Given the description of an element on the screen output the (x, y) to click on. 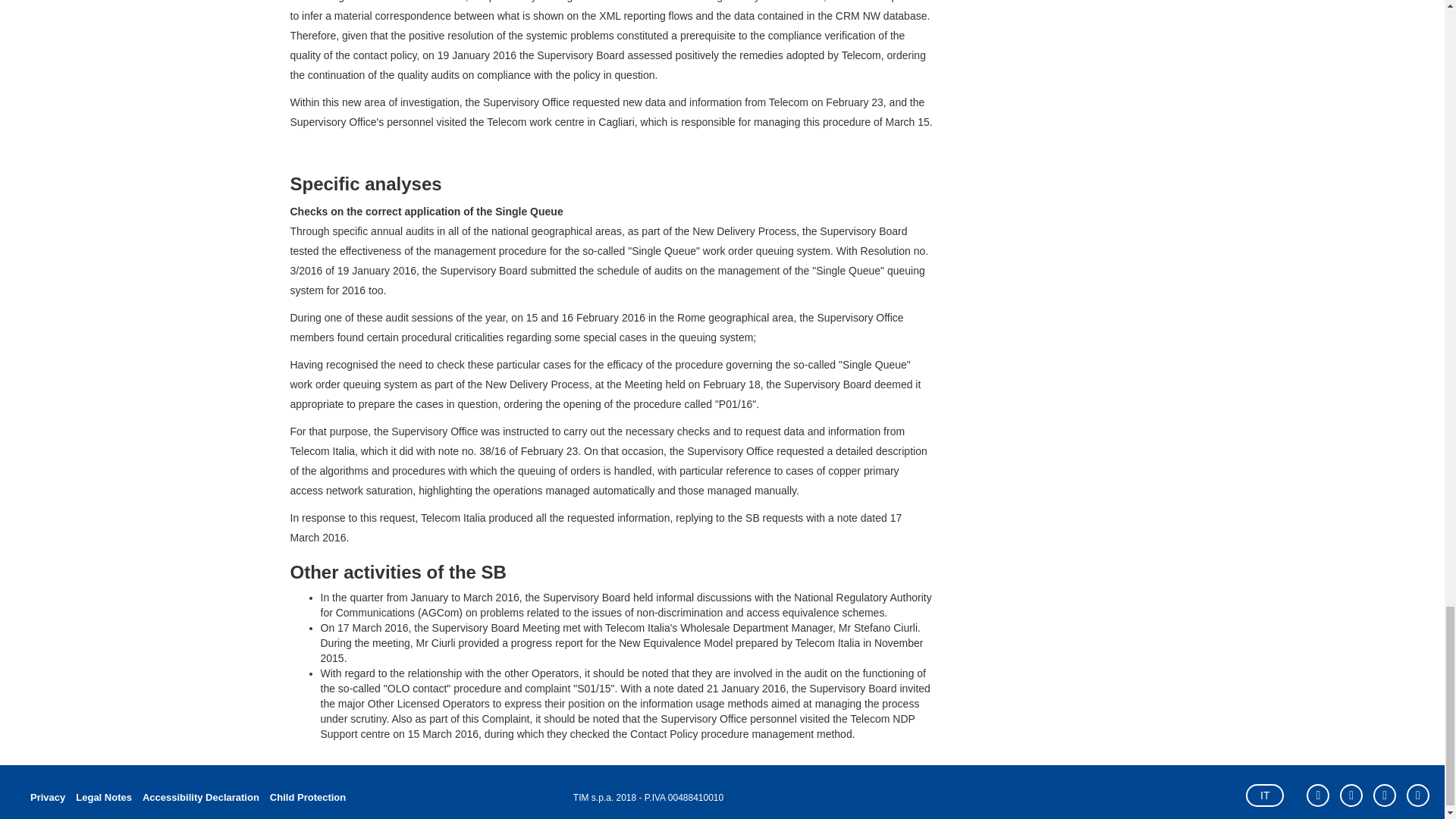
Legal Notes (102, 797)
Child Protection (305, 797)
IT (1265, 794)
Privacy (46, 797)
Accessibility Declaration (200, 797)
